Given the description of an element on the screen output the (x, y) to click on. 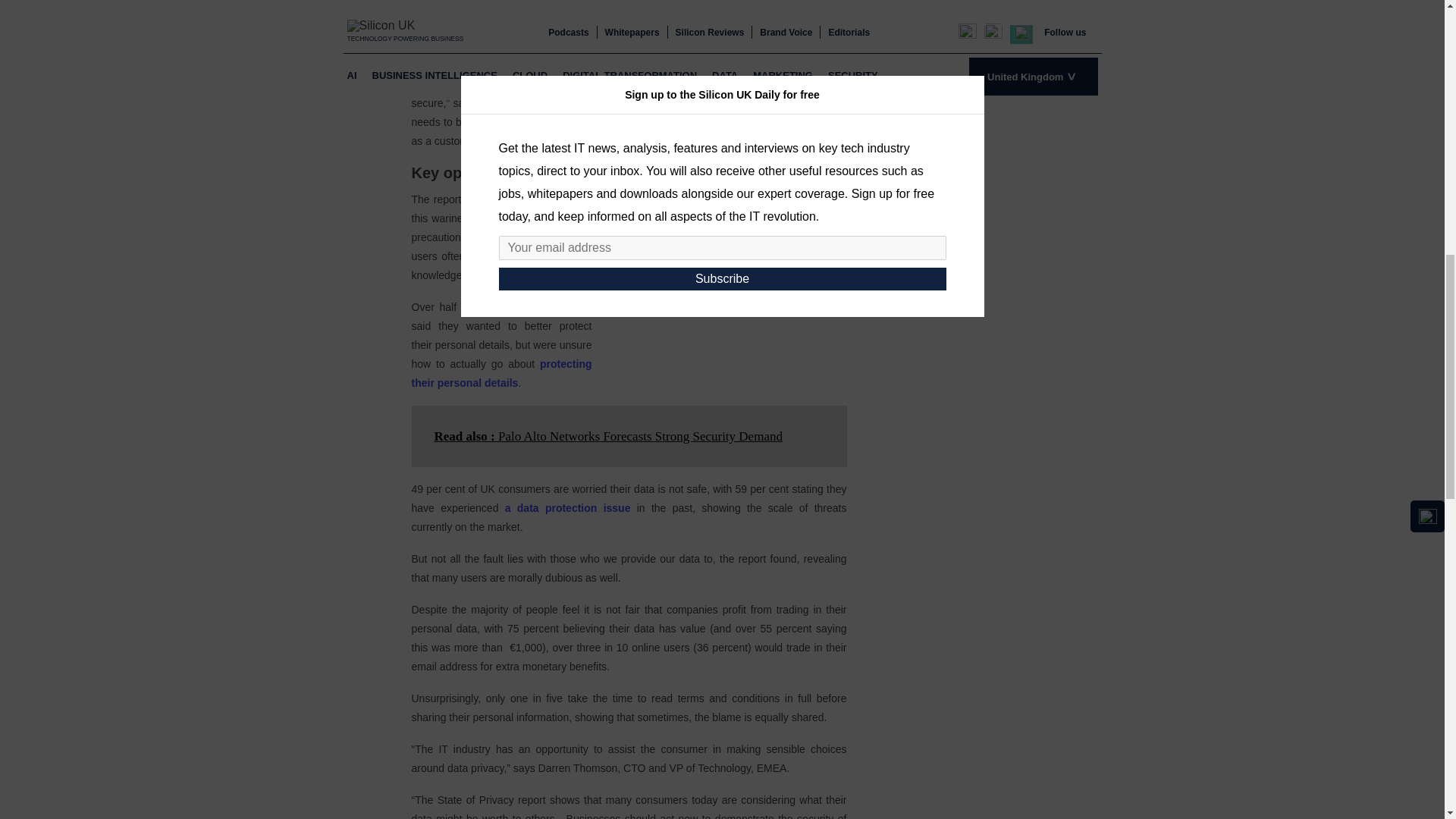
Fortinet Finds Small Business Retailer Security Shortcomings (500, 373)
